Given the description of an element on the screen output the (x, y) to click on. 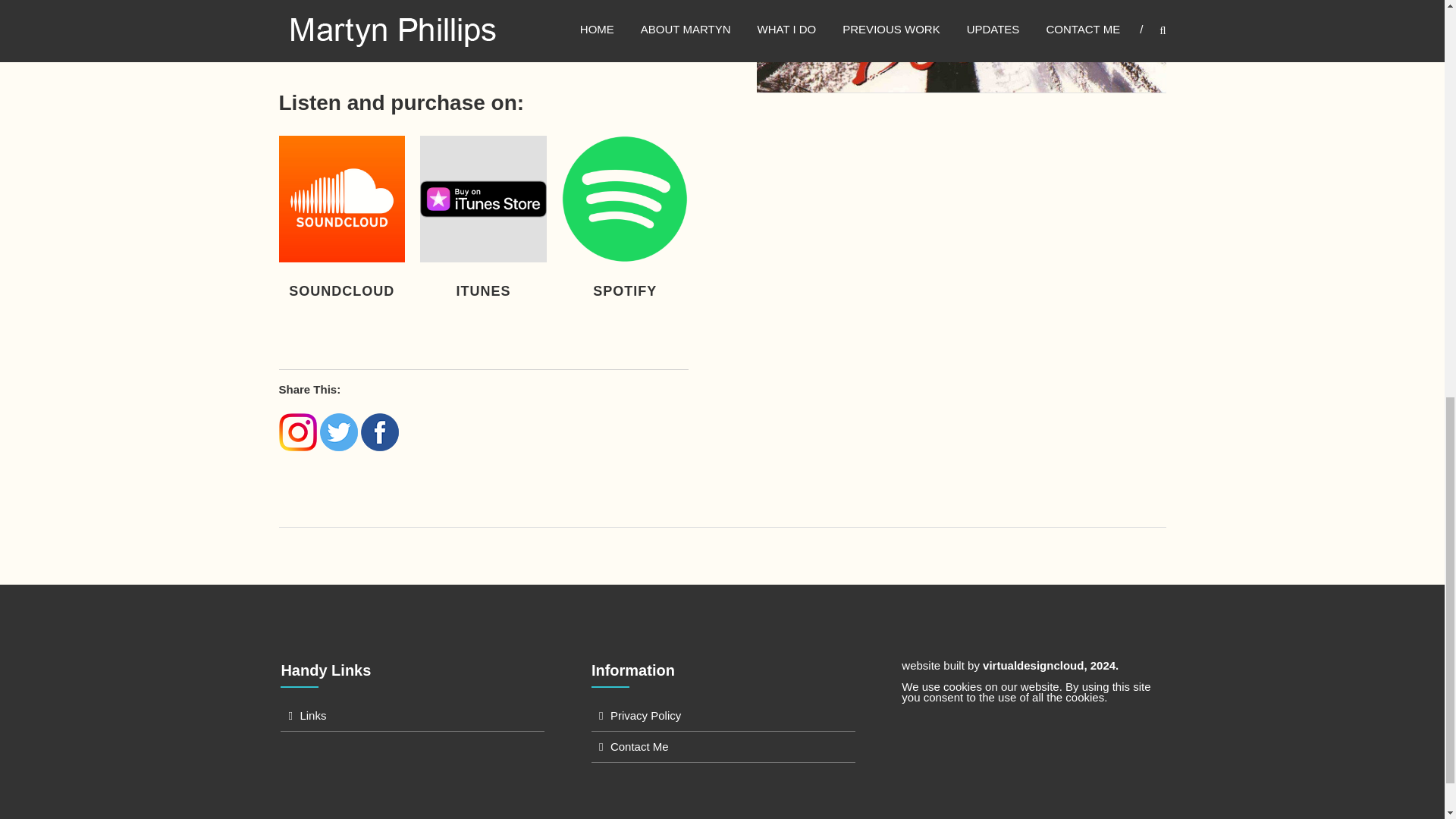
SPOTIFY (625, 291)
SOUNDCLOUD (342, 291)
ITUNES (483, 291)
Links (312, 715)
Privacy Policy (645, 715)
Contact Me (639, 746)
